Given the description of an element on the screen output the (x, y) to click on. 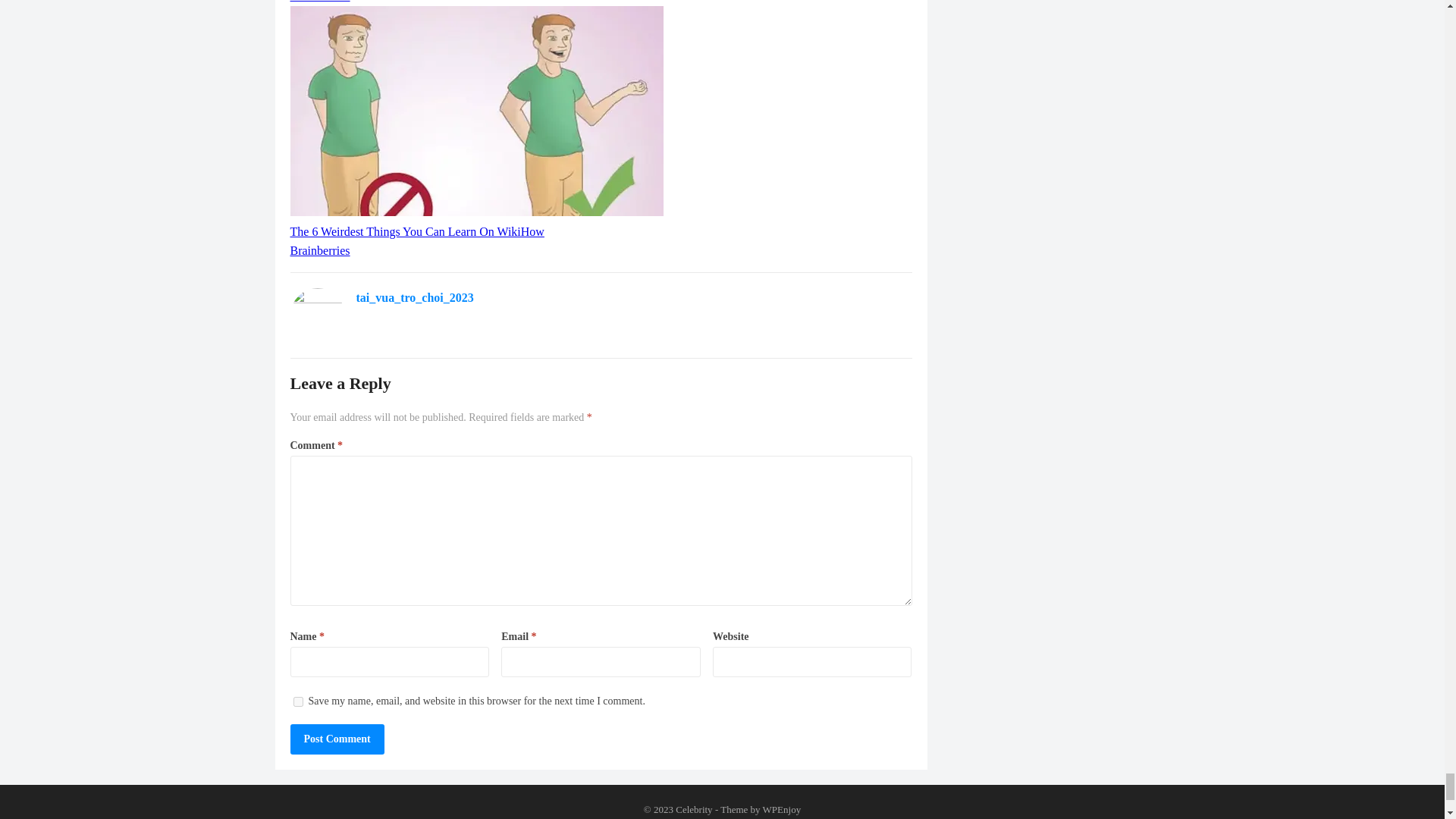
yes (297, 701)
Post Comment (336, 738)
Post Comment (336, 738)
